Given the description of an element on the screen output the (x, y) to click on. 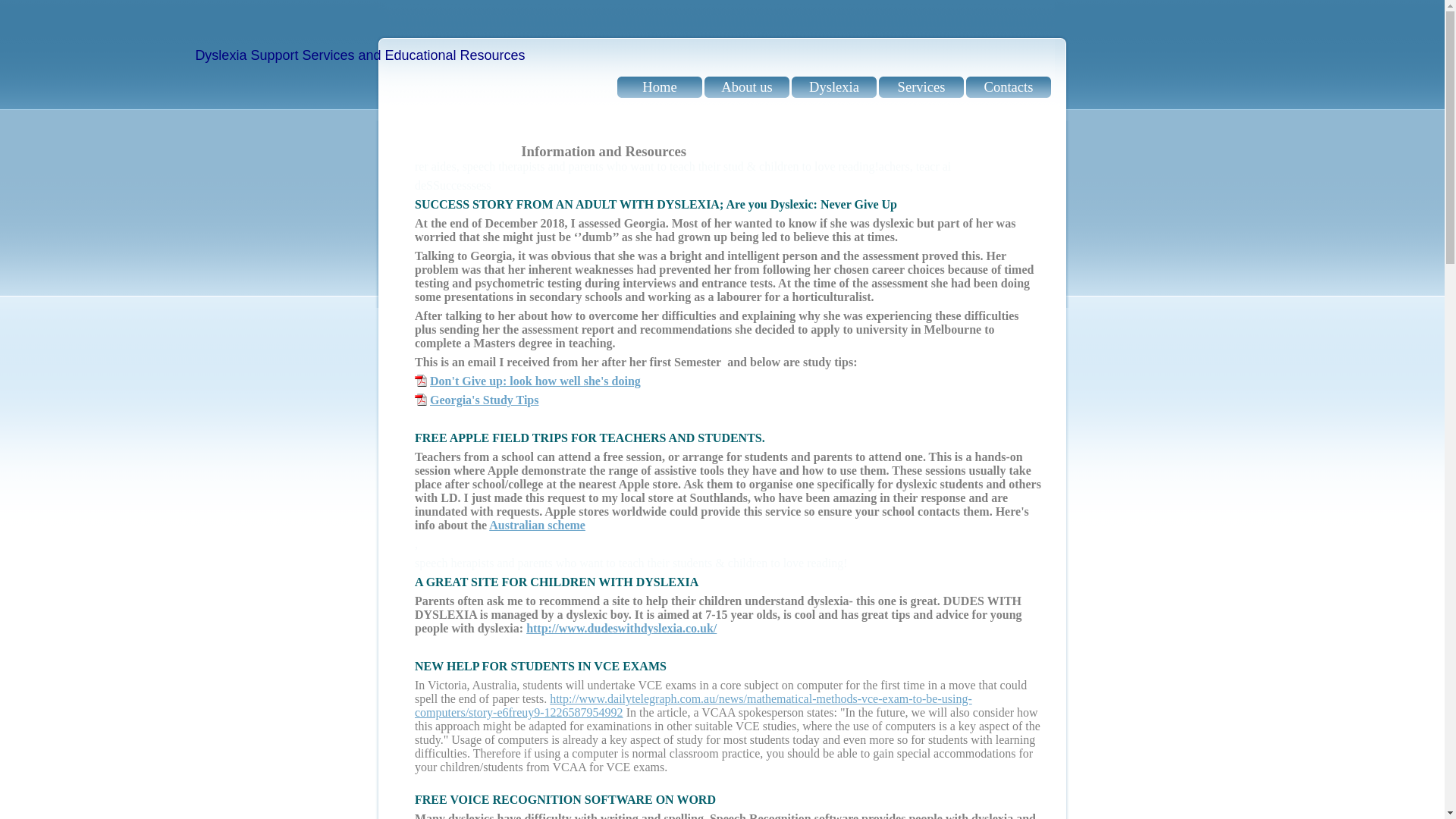
Don't Give up: look how well she's doing Element type: text (534, 380)
Home Element type: text (659, 86)
Contacts Element type: text (1008, 86)
Georgia's Study Tips Element type: text (483, 399)
Services Element type: text (920, 86)
Australian scheme Element type: text (537, 524)
About us Element type: text (746, 86)
Dyslexia Element type: text (833, 86)
http://www.dudeswithdyslexia.co.uk/ Element type: text (621, 627)
